Given the description of an element on the screen output the (x, y) to click on. 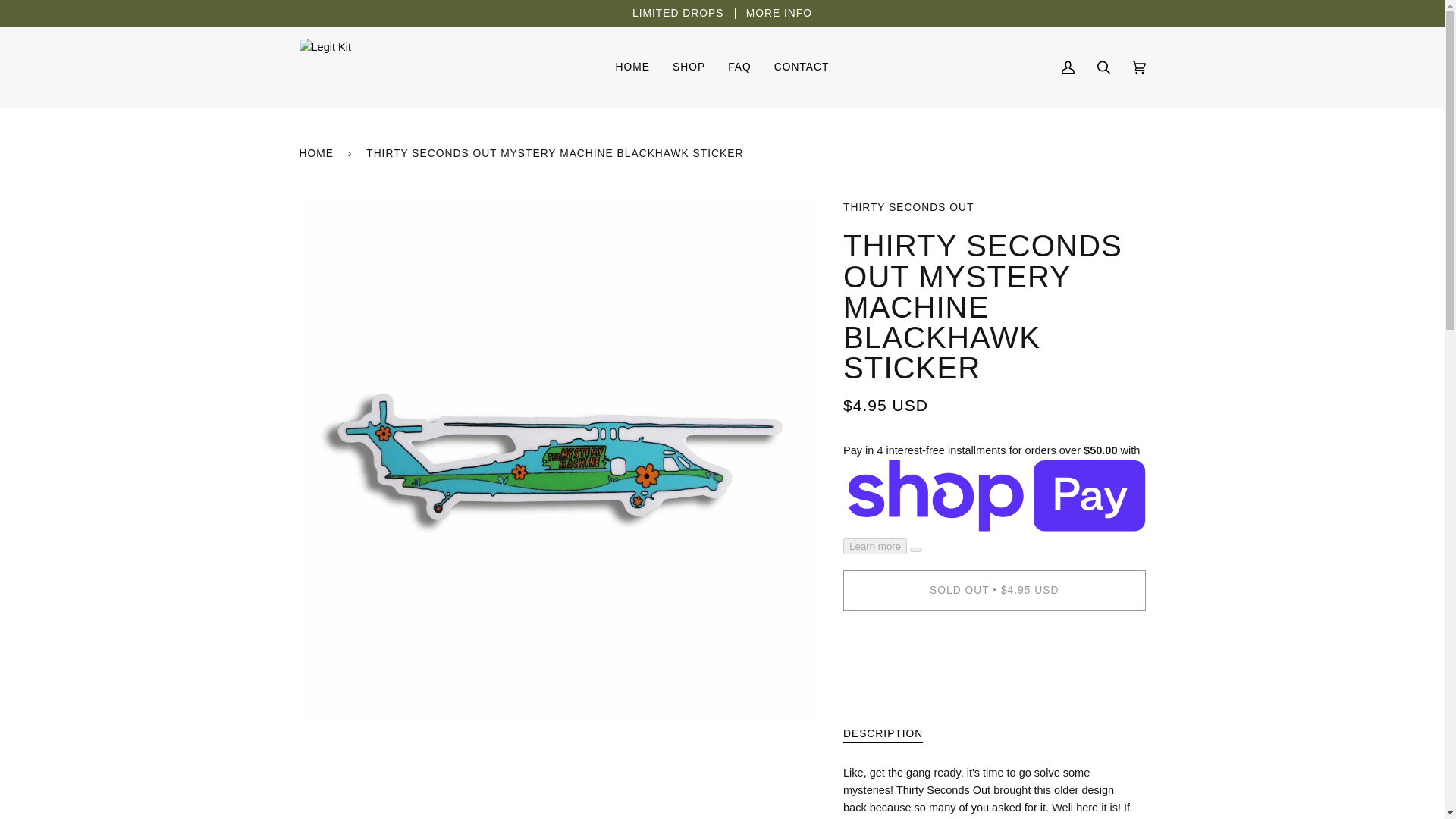
Limited (778, 12)
CONTACT (801, 67)
Back to the frontpage (317, 153)
MORE INFO (778, 12)
